Given the description of an element on the screen output the (x, y) to click on. 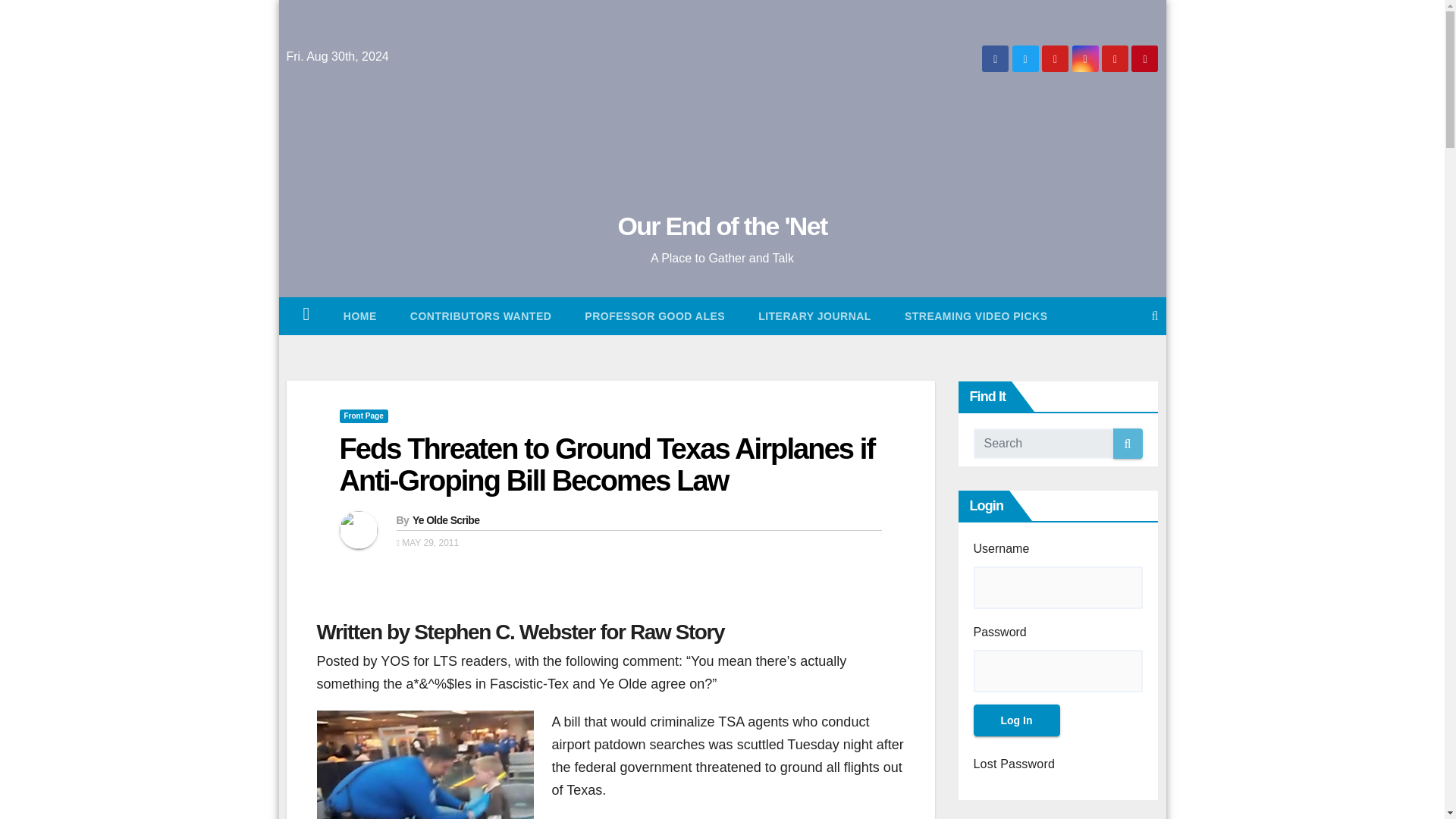
Contributors Wanted (481, 315)
Home (359, 315)
CONTRIBUTORS WANTED (481, 315)
Literary Journal (814, 315)
Ye Olde Scribe (445, 520)
PROFESSOR GOOD ALES (654, 315)
Professor Good Ales (654, 315)
Front Page (363, 416)
